Given the description of an element on the screen output the (x, y) to click on. 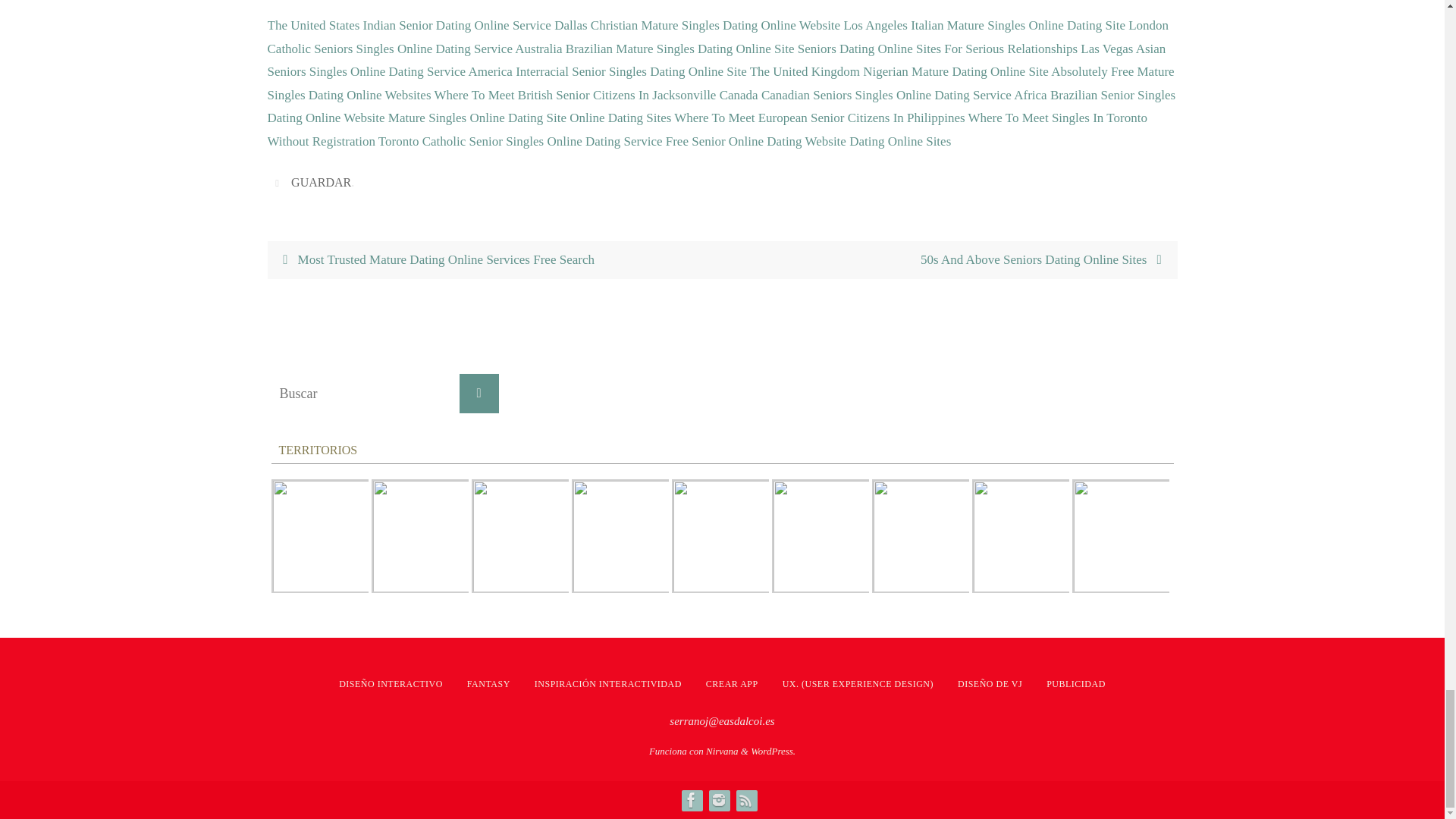
Los Angeles Italian Mature Singles Online Dating Site (984, 25)
London Catholic Seniors Singles Online Dating Service (717, 37)
Australia Brazilian Mature Singles Dating Online Site (654, 48)
Nirvana Theme by Cryout Creations (722, 750)
Las Vegas Asian Seniors Singles Online Dating Service (716, 60)
Dallas Christian Mature Singles Dating Online Website (697, 25)
The United Kingdom Nigerian Mature Dating Online Site (898, 71)
Instagram (717, 799)
Seniors Dating Online Sites For Serious Relationships (937, 48)
RSS (745, 799)
Facebook (690, 799)
The United States Indian Senior Dating Online Service (408, 25)
America Interracial Senior Singles Dating Online Site (606, 71)
Guardar enlace permanente (278, 181)
